Given the description of an element on the screen output the (x, y) to click on. 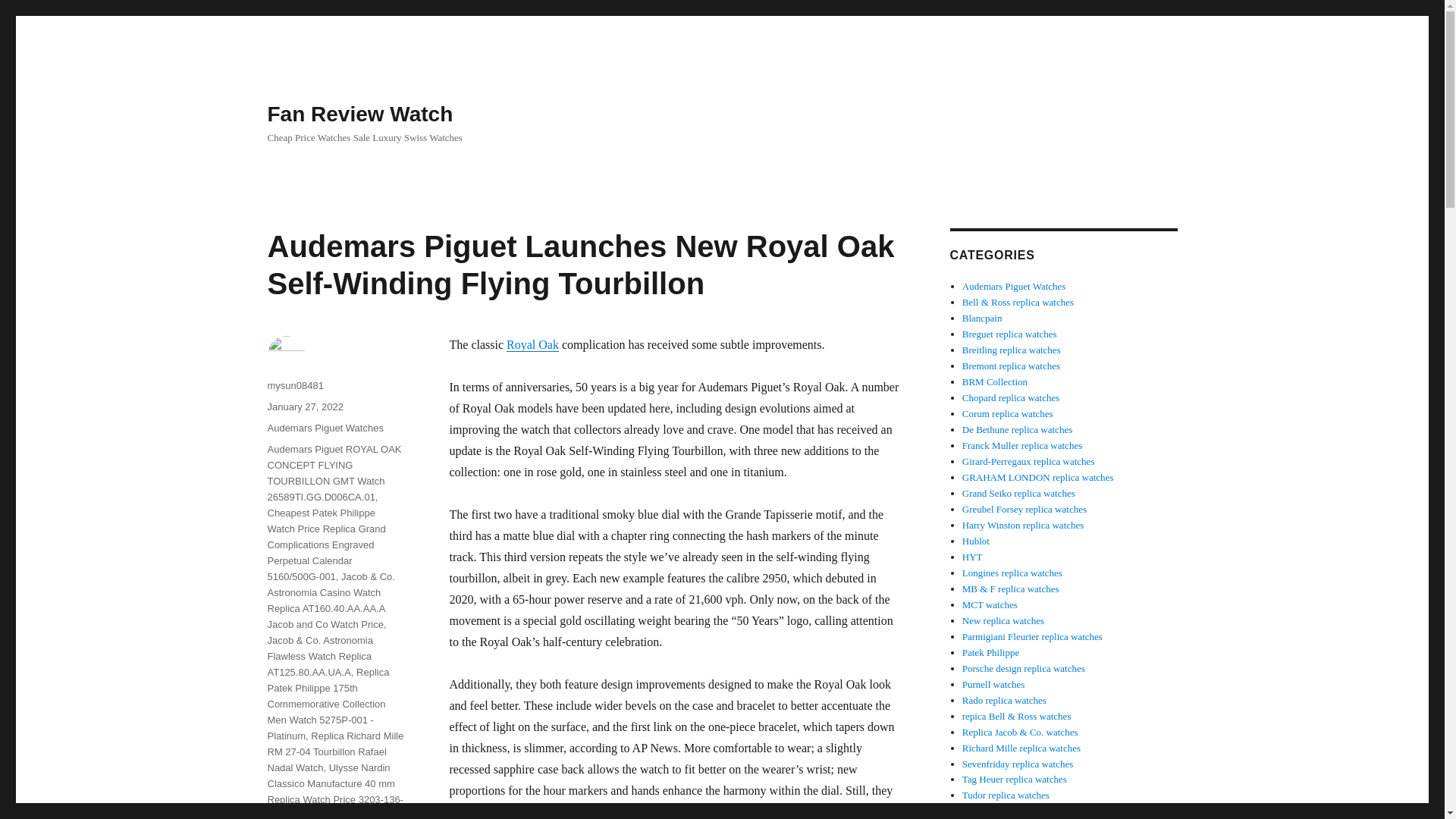
Audemars Piguet Watches (324, 428)
mysun08481 (294, 385)
Girard-Perregaux replica watches (1028, 460)
BRM Collection (994, 381)
Longines replica watches (1012, 572)
Blancpain (982, 317)
Replica Richard Mille RM 27-04 Tourbillon Rafael Nadal Watch (334, 751)
Corum replica watches (1007, 413)
